Given the description of an element on the screen output the (x, y) to click on. 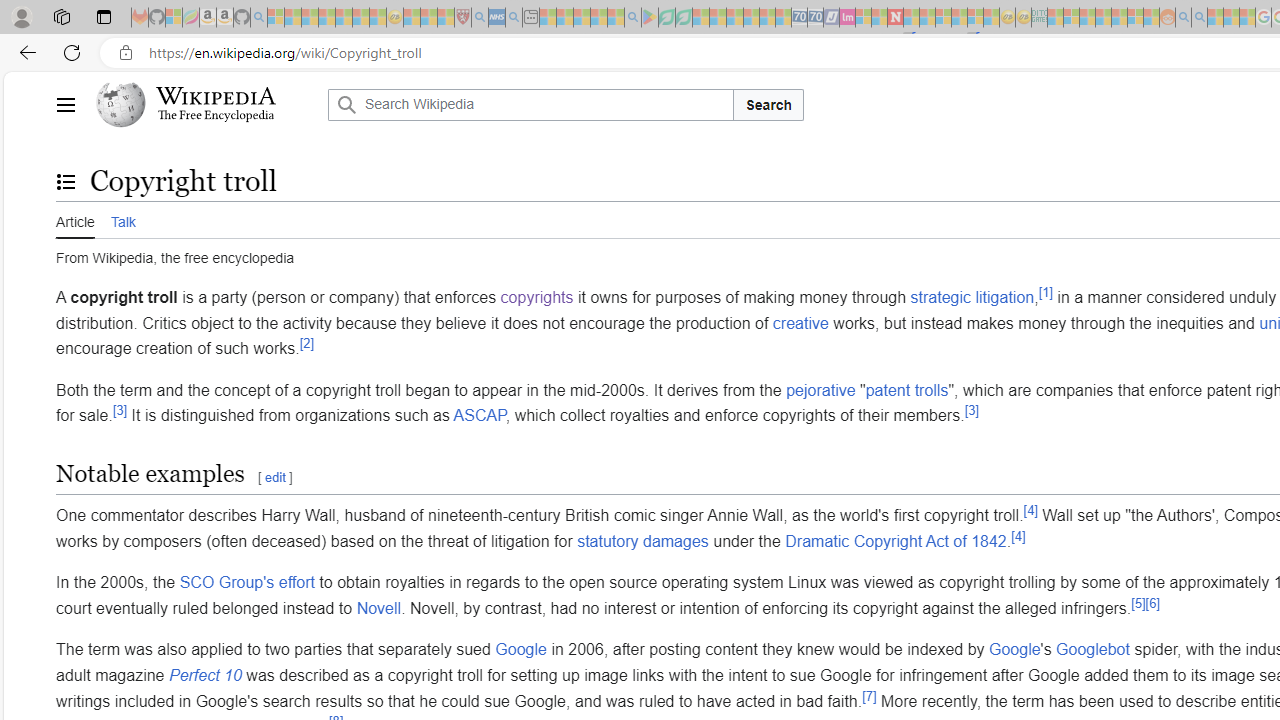
[4] (1018, 535)
Bluey: Let's Play! - Apps on Google Play - Sleeping (649, 17)
Wikipedia The Free Encyclopedia (206, 104)
[2] (306, 342)
